Given the description of an element on the screen output the (x, y) to click on. 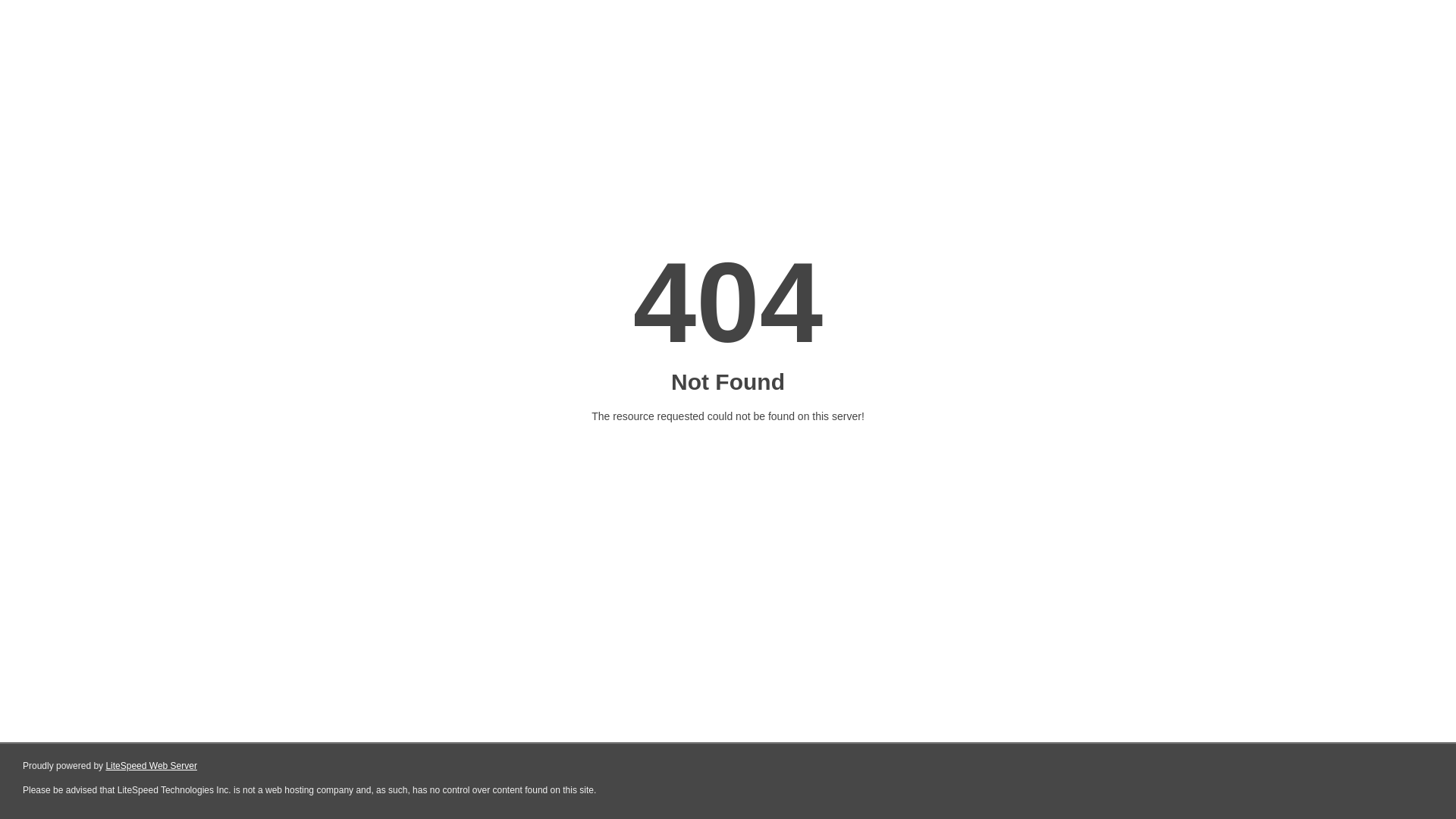
LiteSpeed Web Server Element type: text (151, 765)
